Given the description of an element on the screen output the (x, y) to click on. 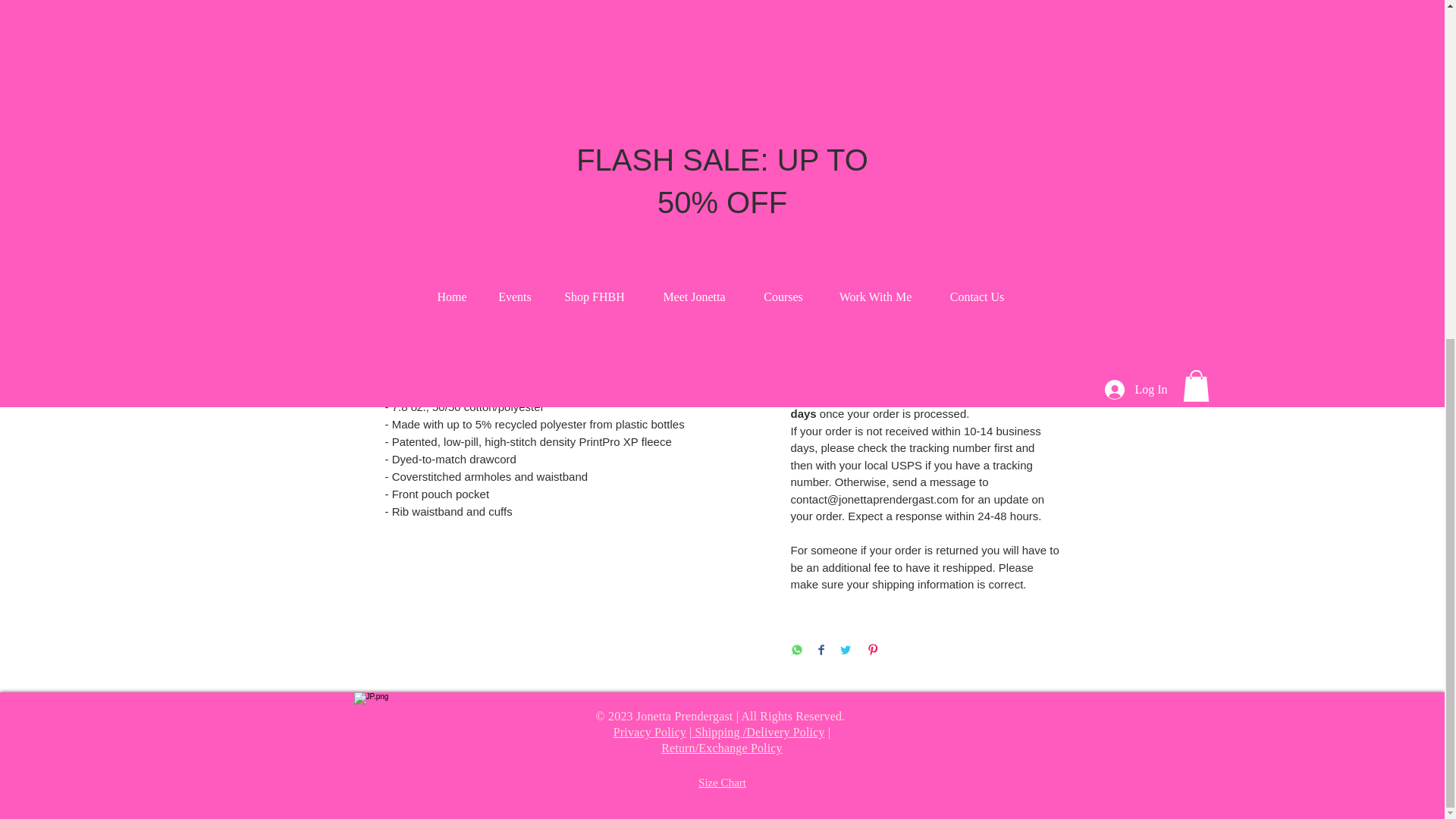
Terms And Conditions (924, 299)
1 (817, 183)
Size Chart (721, 782)
Select (924, 64)
Privacy Policy (648, 731)
Add to Cart (924, 240)
